Given the description of an element on the screen output the (x, y) to click on. 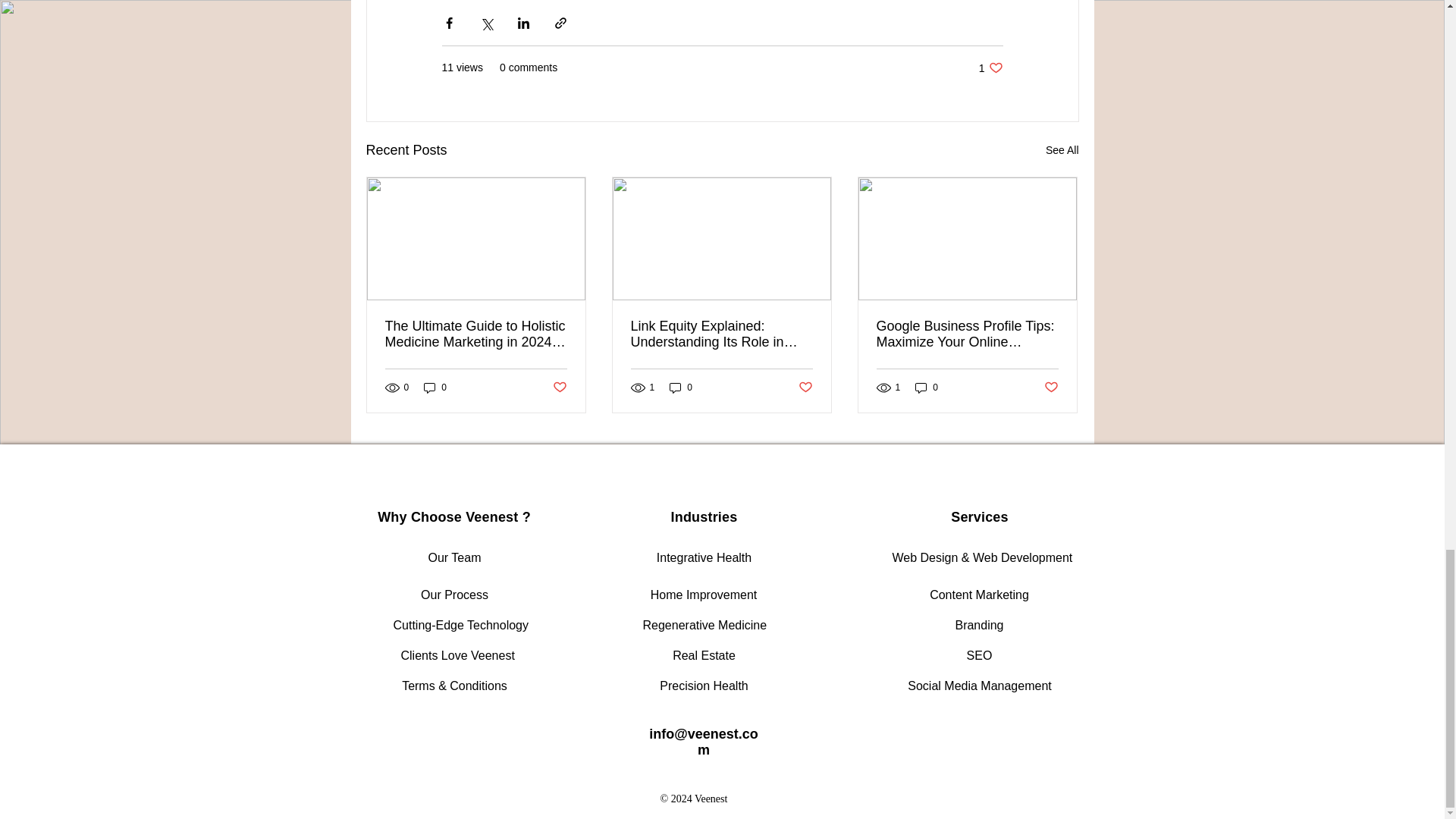
Post not marked as liked (558, 387)
See All (990, 67)
0 (1061, 150)
